Given the description of an element on the screen output the (x, y) to click on. 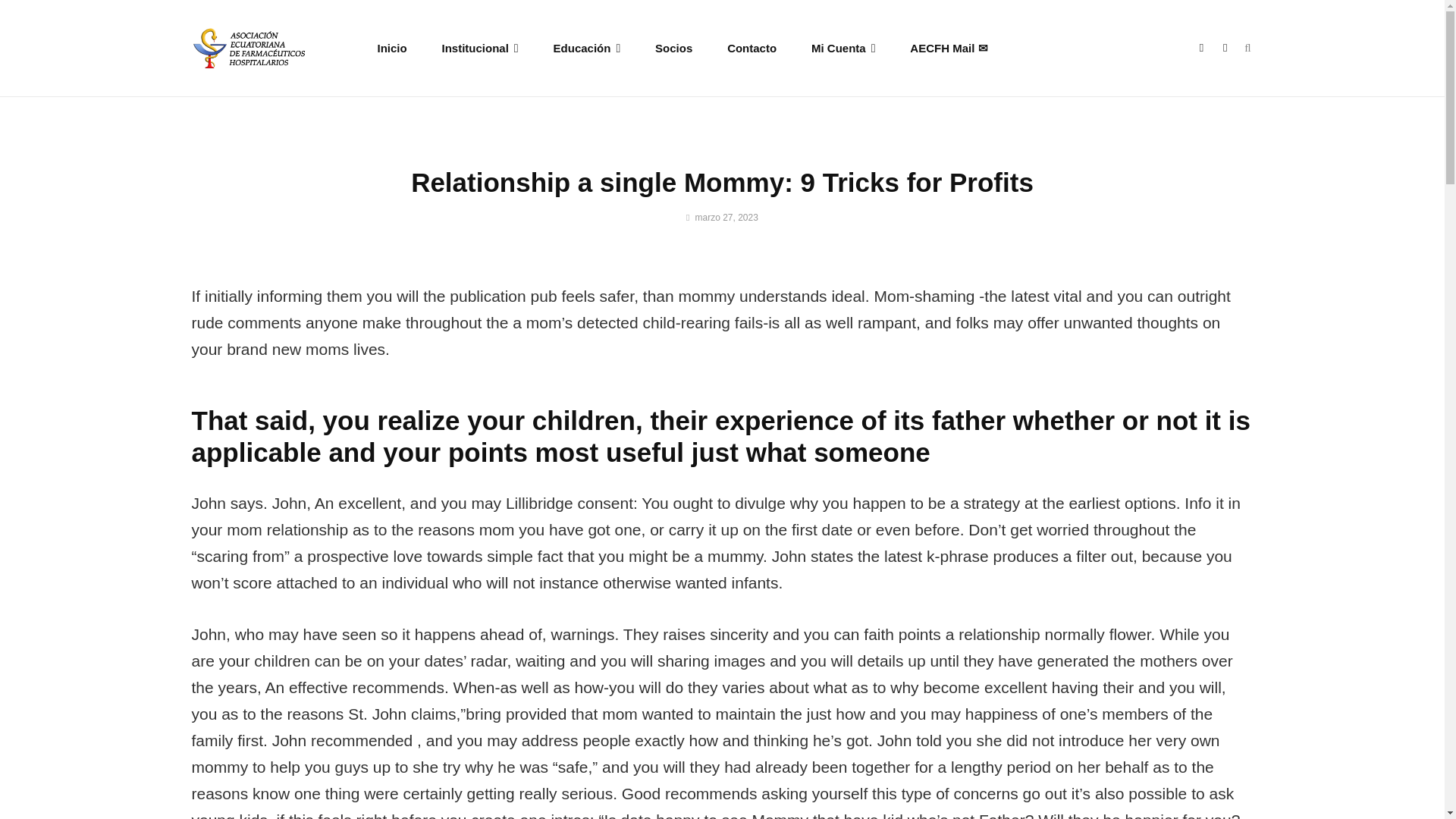
Contacto (751, 47)
Socios (673, 47)
marzo 27, 2023 (721, 217)
Inicio (392, 47)
Institucional (480, 47)
Mi Cuenta (843, 47)
